Given the description of an element on the screen output the (x, y) to click on. 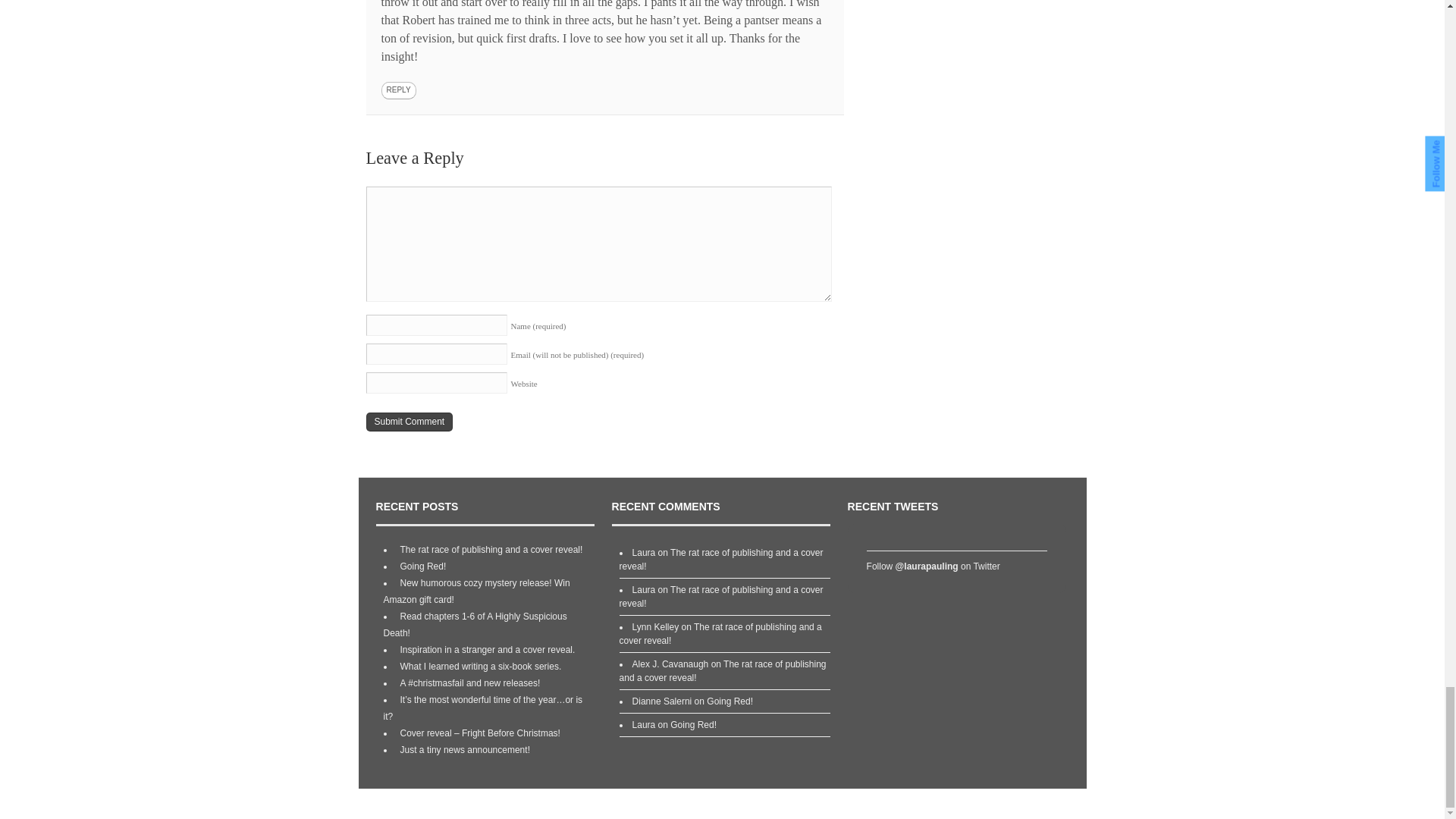
Submit Comment (408, 421)
